Given the description of an element on the screen output the (x, y) to click on. 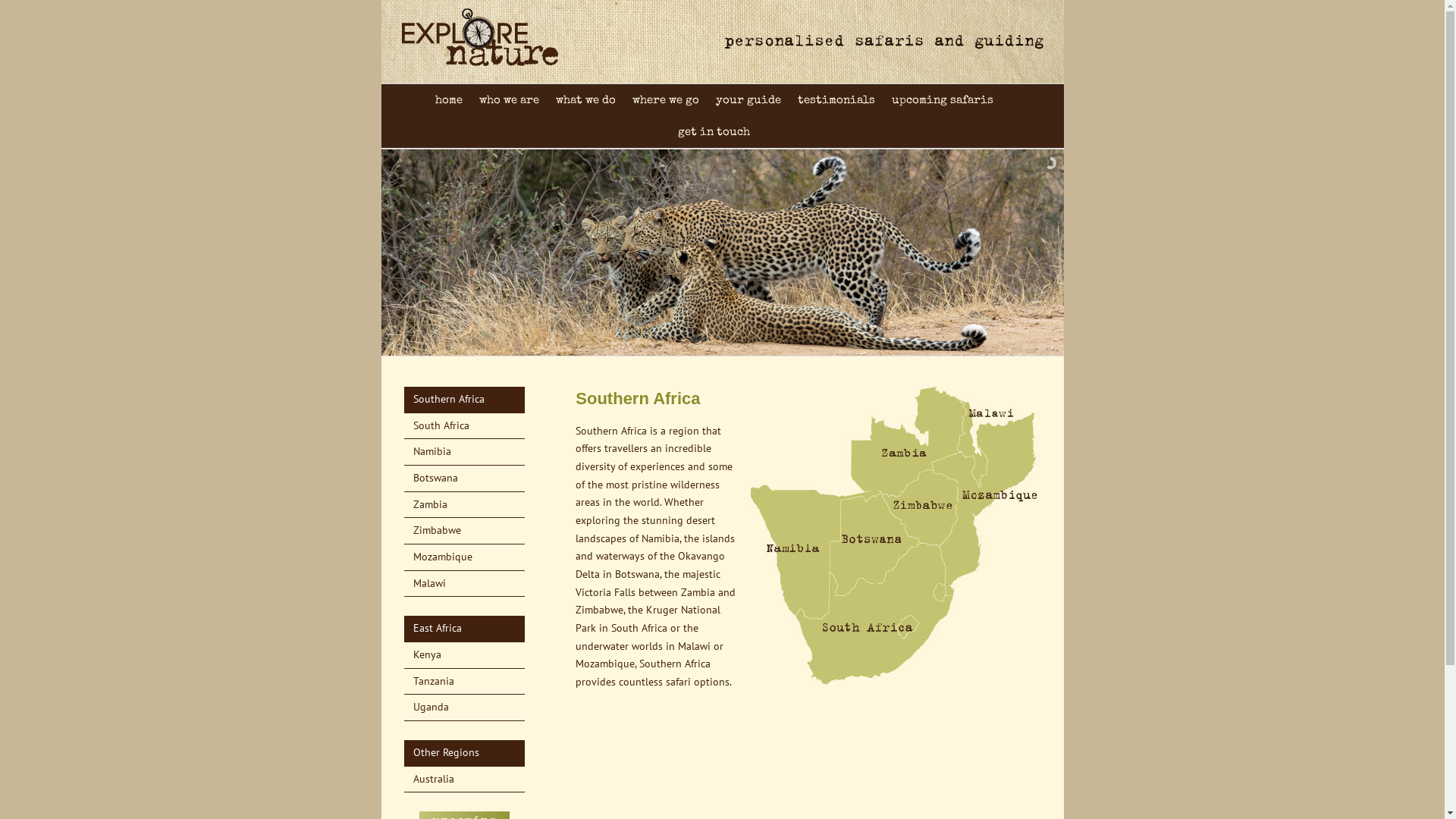
testimonials Element type: text (836, 100)
Mozambique Element type: text (441, 556)
Malawi Element type: text (428, 582)
get in touch Element type: text (713, 131)
who we are Element type: text (509, 100)
where we go Element type: text (665, 100)
Kenya Element type: text (426, 654)
home Element type: text (448, 100)
Tanzania Element type: text (432, 680)
what we do Element type: text (585, 100)
Zimbabwe Element type: text (436, 529)
your guide Element type: text (748, 100)
Uganda Element type: text (430, 706)
Australia Element type: text (432, 778)
Southern Africa Element type: text (447, 398)
Namibia Element type: text (431, 451)
upcoming safaris Element type: text (942, 100)
Other Regions Element type: text (445, 752)
South Africa Element type: text (440, 425)
Zambia Element type: text (429, 504)
East Africa Element type: text (436, 627)
Botswana Element type: text (434, 477)
